Given the description of an element on the screen output the (x, y) to click on. 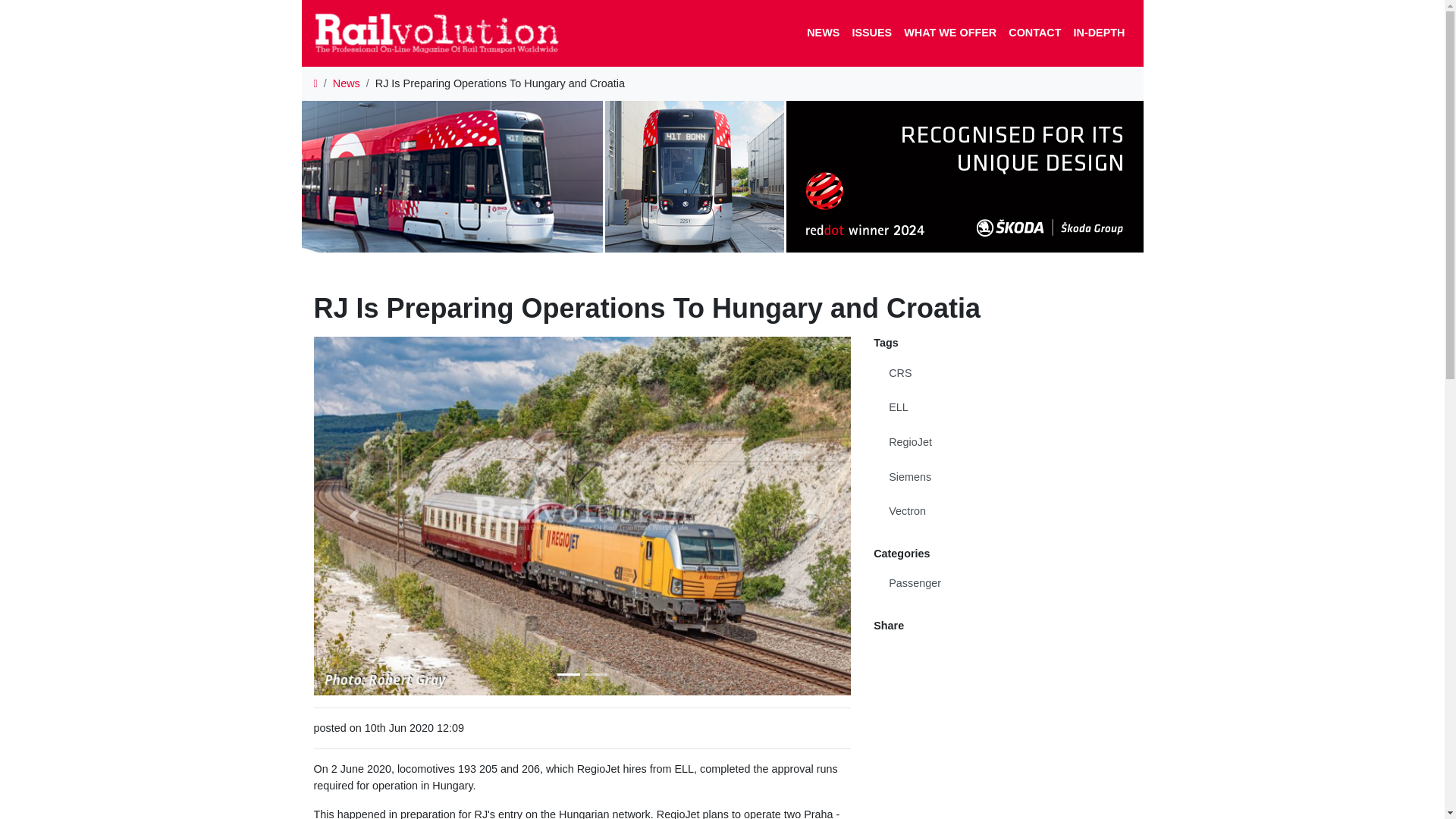
ELL (1002, 407)
ISSUES (871, 32)
Railvolution (444, 32)
Vectron (1002, 511)
Passenger (1002, 583)
CRS (1002, 373)
RegioJet (1002, 442)
NEWS (822, 32)
News (346, 82)
IN-DEPTH (1099, 32)
Siemens (1002, 477)
CONTACT (1035, 32)
WHAT WE OFFER (950, 32)
